Given the description of an element on the screen output the (x, y) to click on. 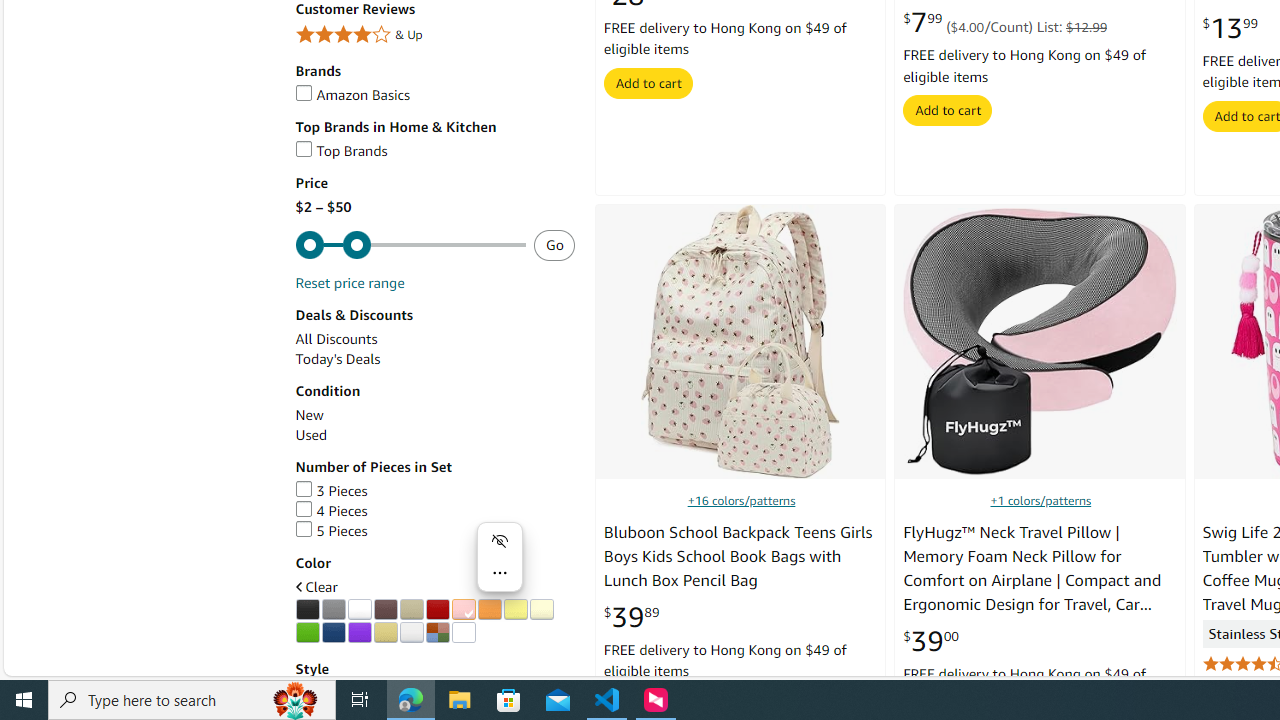
Clear (429, 587)
5 Pieces (434, 531)
Add to cart (947, 110)
AutomationID: p_n_feature_twenty_browse-bin/3254105011 (489, 609)
AutomationID: p_n_feature_twenty_browse-bin/3254103011 (437, 609)
+16 colors/patterns (741, 499)
Top Brands (434, 151)
Mini menu on text selection (499, 569)
AutomationID: p_n_feature_twenty_browse-bin/3254106011 (515, 609)
Multi (437, 632)
New (434, 415)
All Discounts (335, 339)
Top Brands (340, 151)
